Given the description of an element on the screen output the (x, y) to click on. 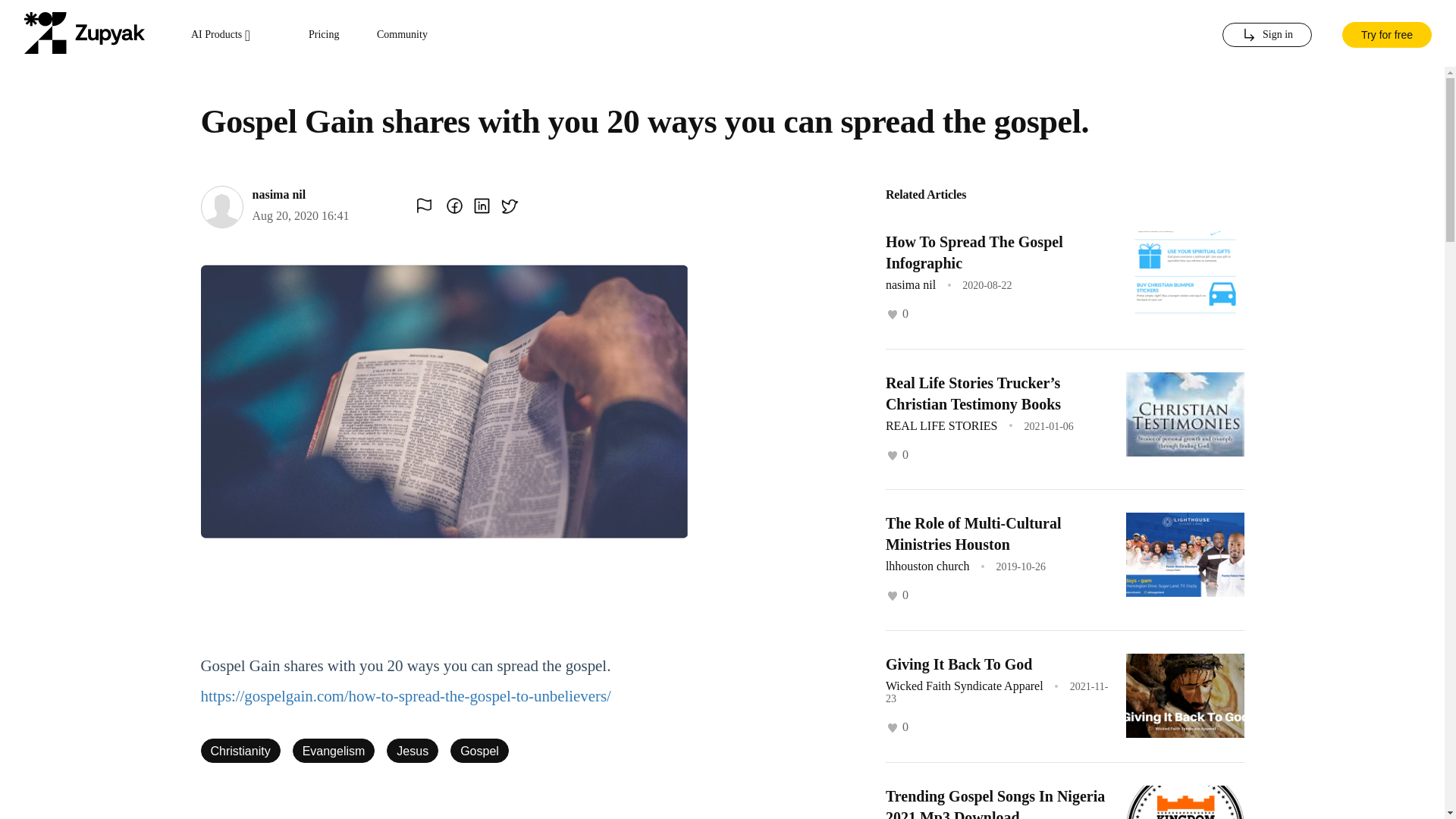
Try for free (1386, 33)
Jesus (412, 750)
The Role of Multi-Cultural Ministries Houston (973, 533)
Pricing (323, 34)
Christianity (239, 750)
Gospel (478, 750)
How To Spread The Gospel Infographic (973, 252)
Trending Gospel Songs In Nigeria 2021 Mp3 Download (995, 803)
Giving It Back To God (958, 663)
How To Spread The Gospel Infographic (973, 252)
